Given the description of an element on the screen output the (x, y) to click on. 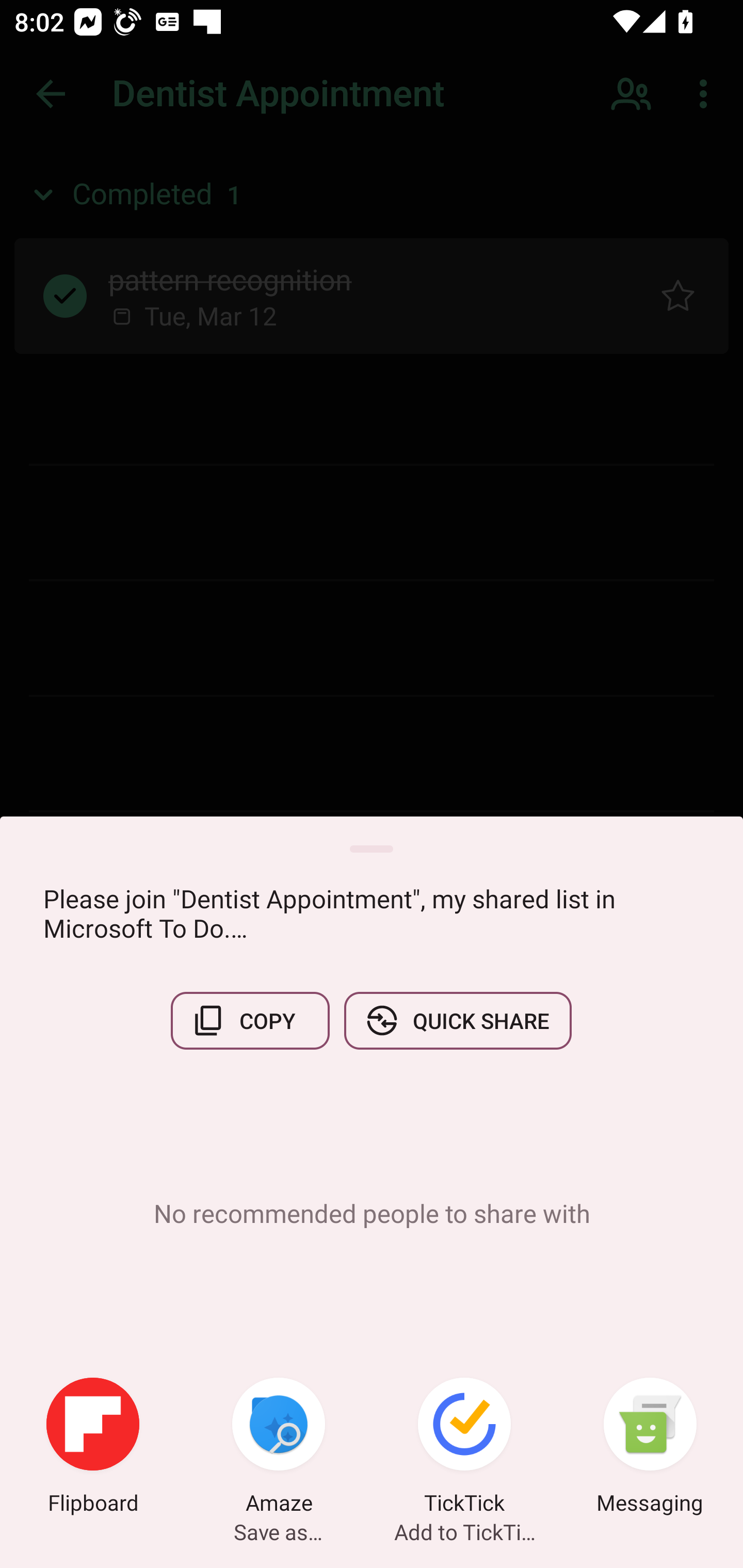
COPY (249, 1020)
QUICK SHARE (457, 1020)
Flipboard (92, 1448)
Amaze Save as… (278, 1448)
TickTick Add to TickTick (464, 1448)
Messaging (650, 1448)
